Given the description of an element on the screen output the (x, y) to click on. 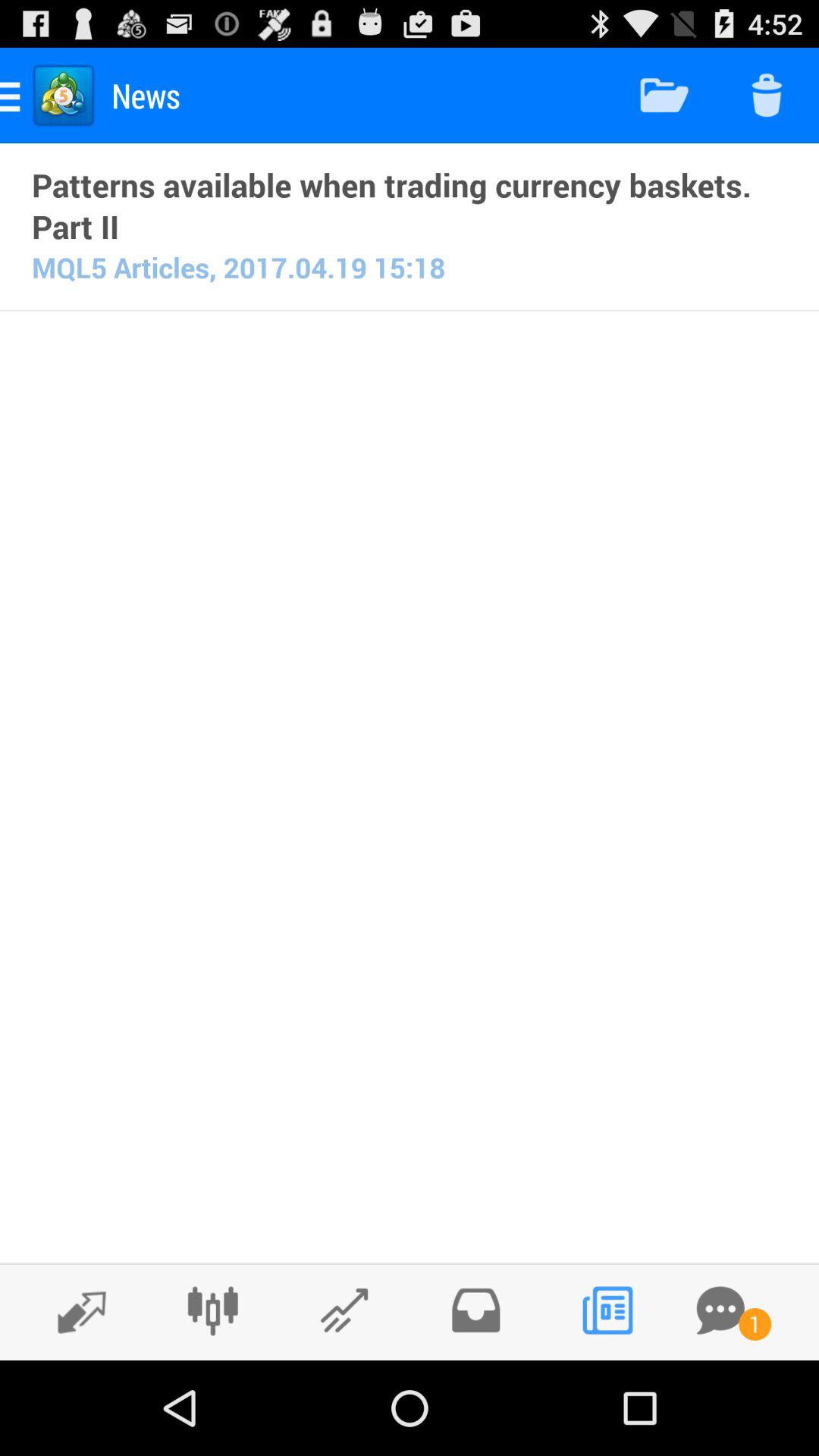
know todays trading value (344, 1310)
